Given the description of an element on the screen output the (x, y) to click on. 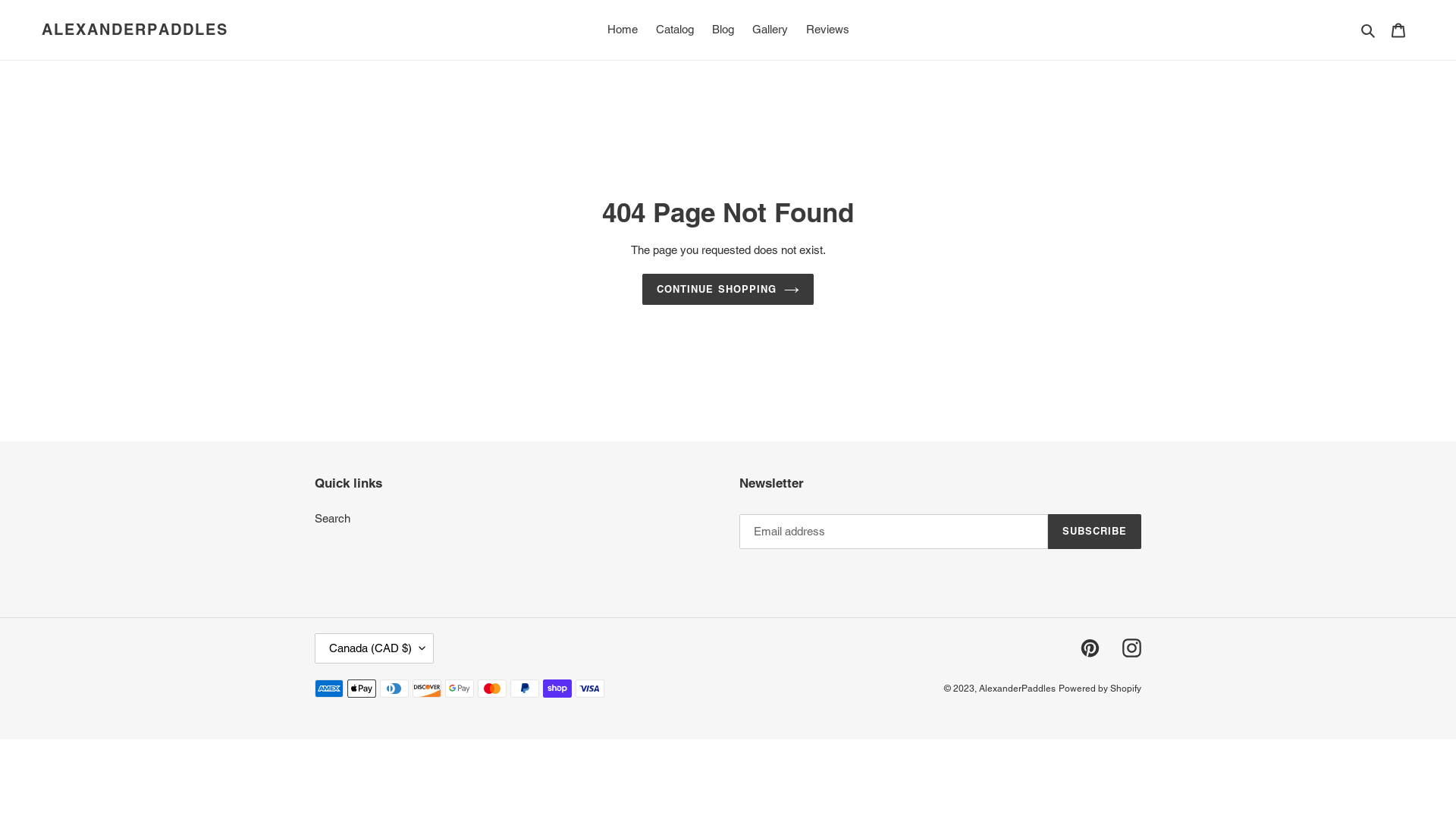
CONTINUE SHOPPING Element type: text (727, 289)
SUBSCRIBE Element type: text (1094, 531)
Powered by Shopify Element type: text (1099, 688)
Gallery Element type: text (769, 29)
AlexanderPaddles Element type: text (1017, 688)
Search Element type: text (1368, 29)
Blog Element type: text (721, 29)
Home Element type: text (621, 29)
Pinterest Element type: text (1089, 647)
Catalog Element type: text (673, 29)
Search Element type: text (332, 517)
Canada (CAD $) Element type: text (373, 648)
ALEXANDERPADDLES Element type: text (134, 29)
Instagram Element type: text (1131, 647)
Cart Element type: text (1398, 29)
Reviews Element type: text (826, 29)
